Given the description of an element on the screen output the (x, y) to click on. 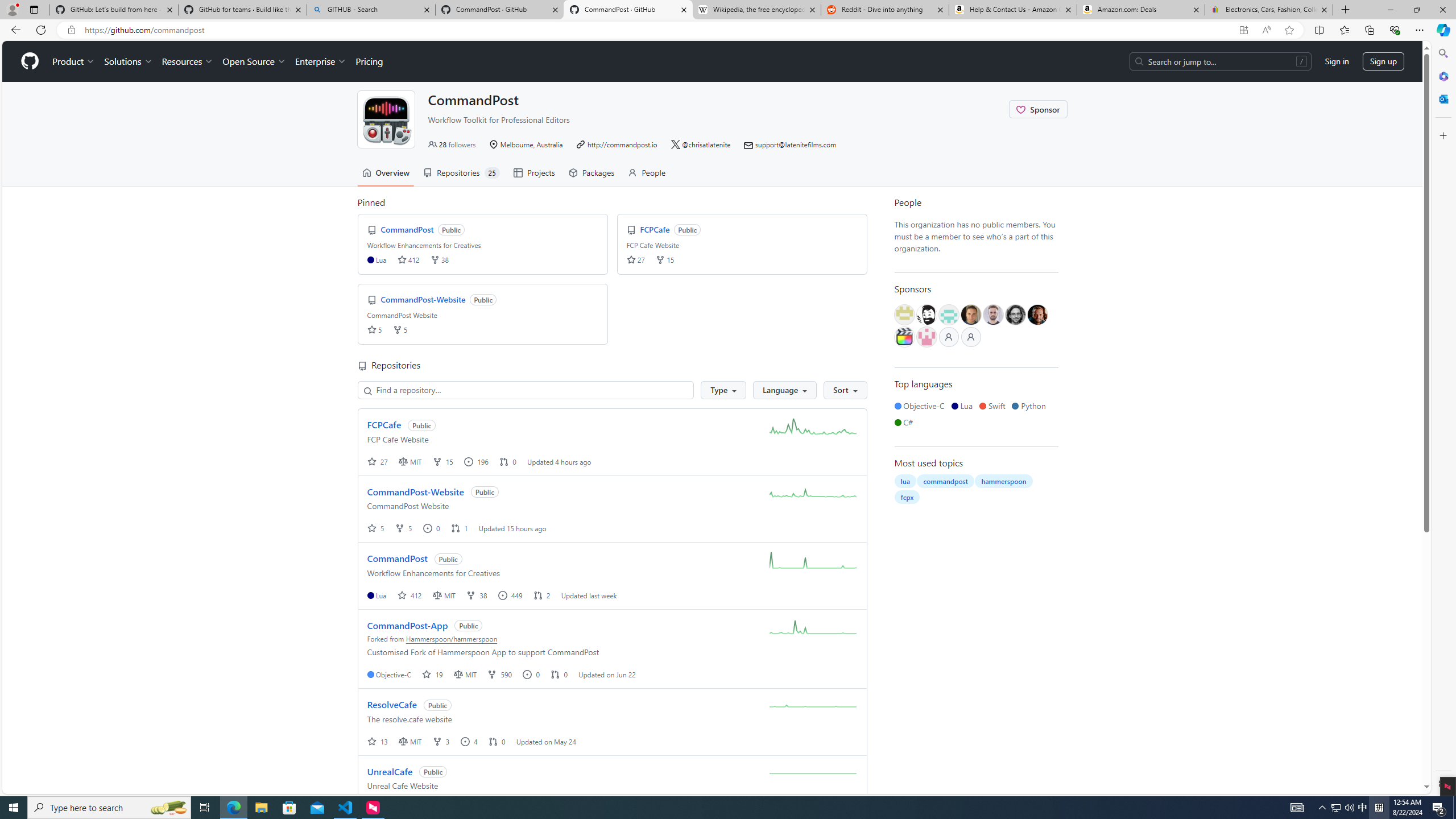
fork 15  (443, 461)
Repositories 25 (461, 172)
@CommandPost (385, 119)
Private Sponsor (970, 336)
@wtembundit (903, 314)
@florian-duffe (1014, 314)
Enterprise (319, 60)
@lamer40 (970, 314)
CommandPost-Website (415, 491)
FCPCafePublicFCP Cafe Website 27 15 (741, 243)
